Given the description of an element on the screen output the (x, y) to click on. 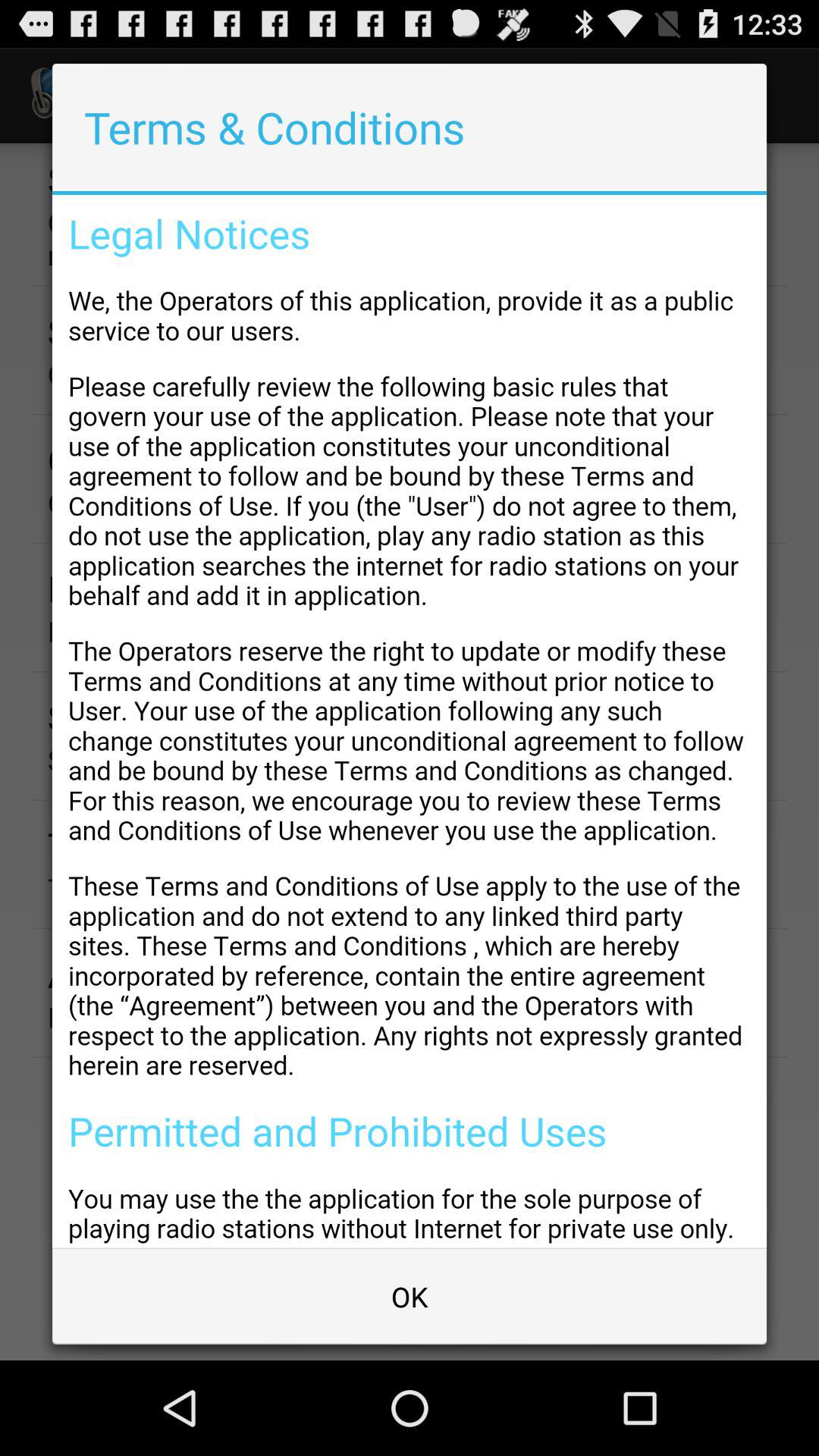
display a legal notice (409, 721)
